Given the description of an element on the screen output the (x, y) to click on. 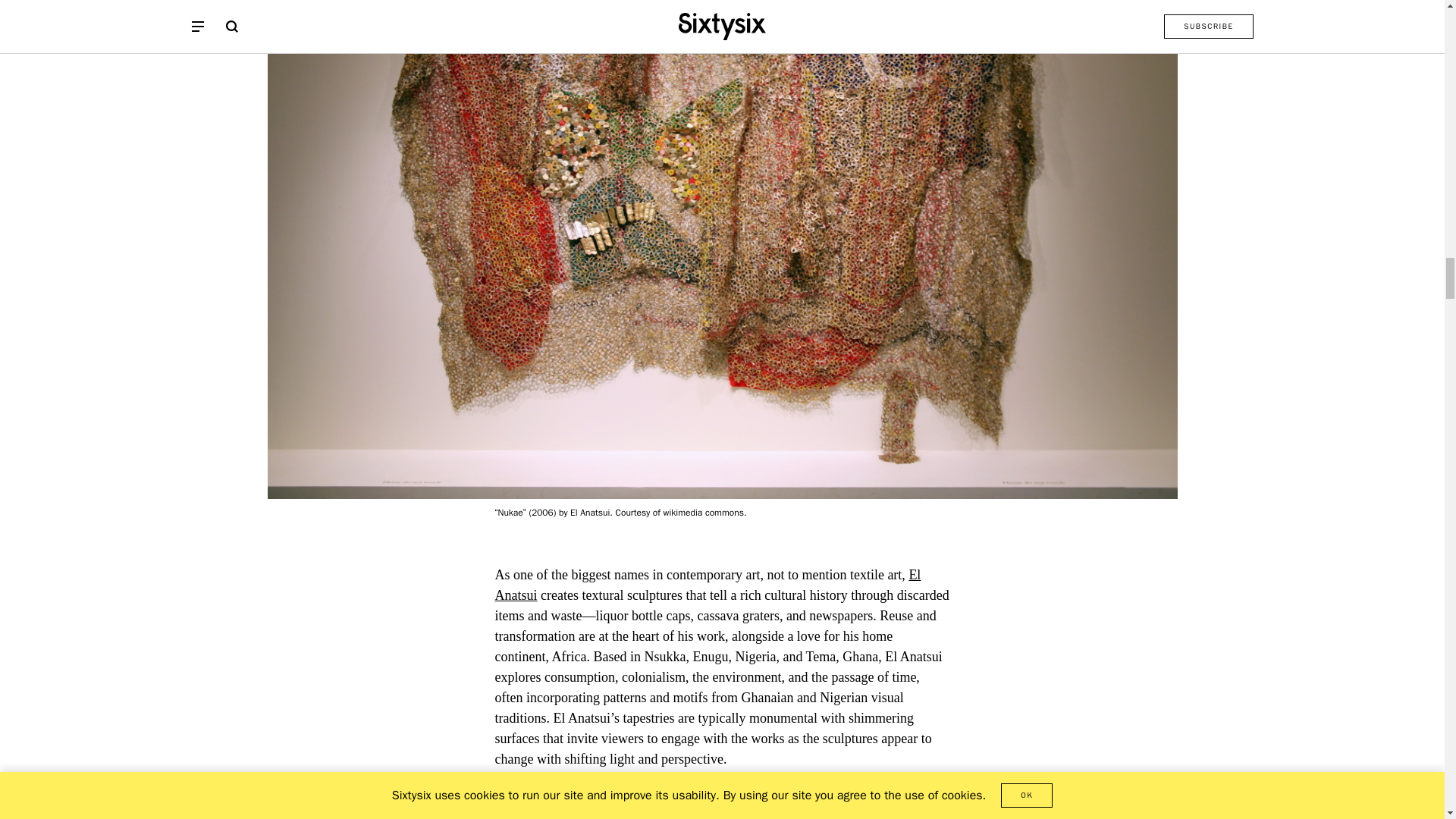
El Anatsui (707, 584)
